Given the description of an element on the screen output the (x, y) to click on. 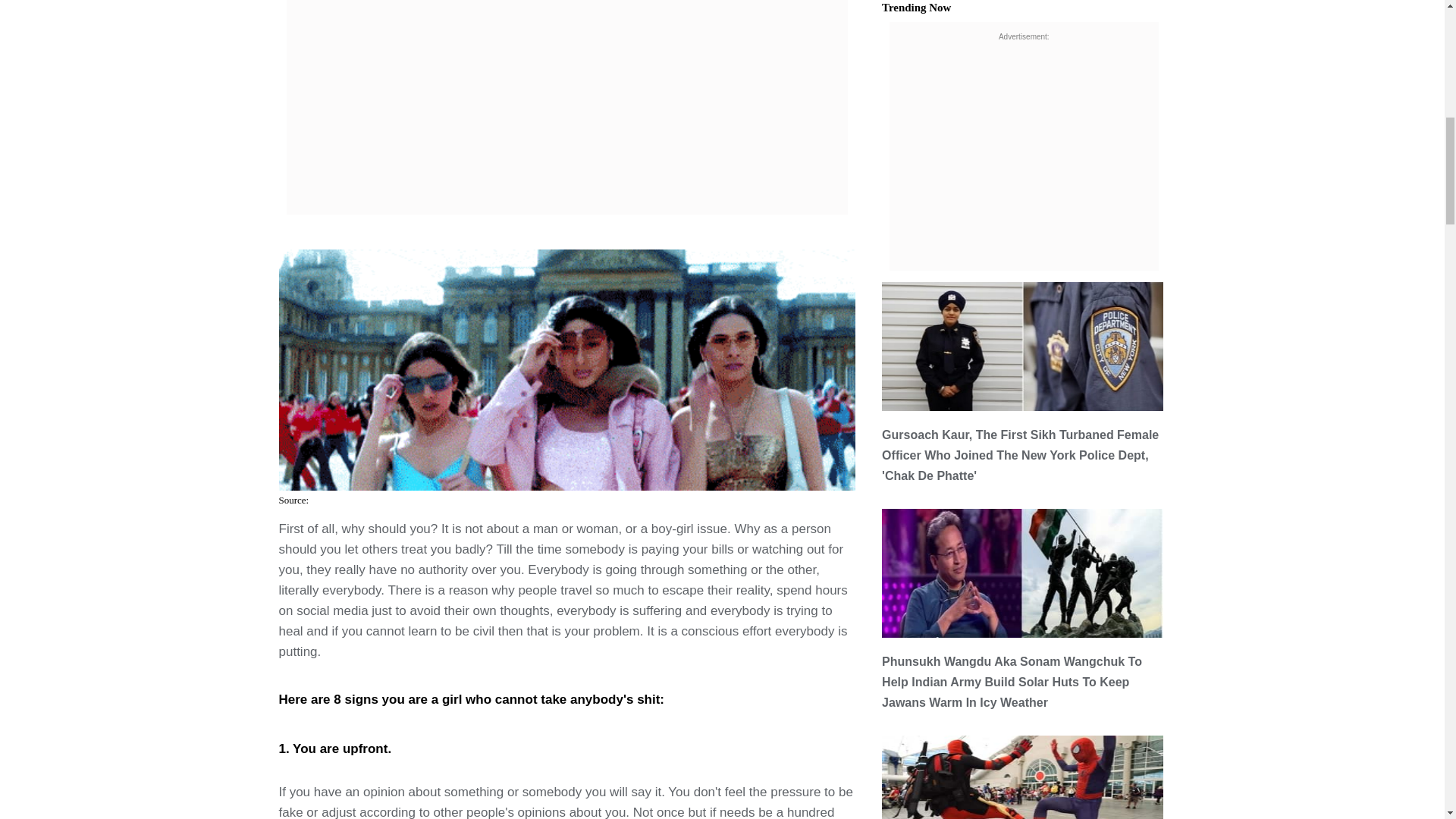
Advertisement (567, 59)
